Given the description of an element on the screen output the (x, y) to click on. 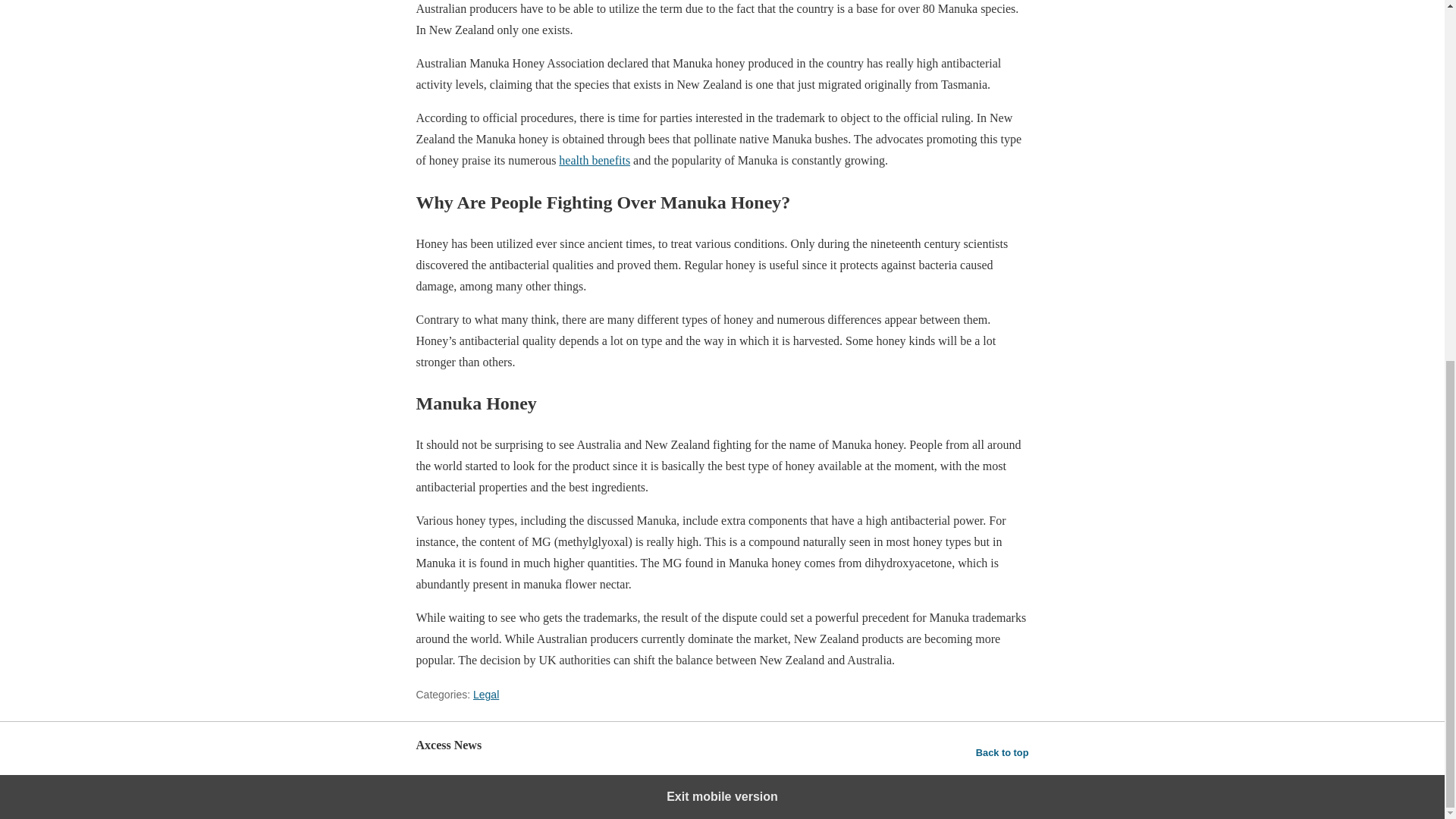
Back to top (1002, 752)
health benefits (594, 160)
Legal (486, 694)
